Given the description of an element on the screen output the (x, y) to click on. 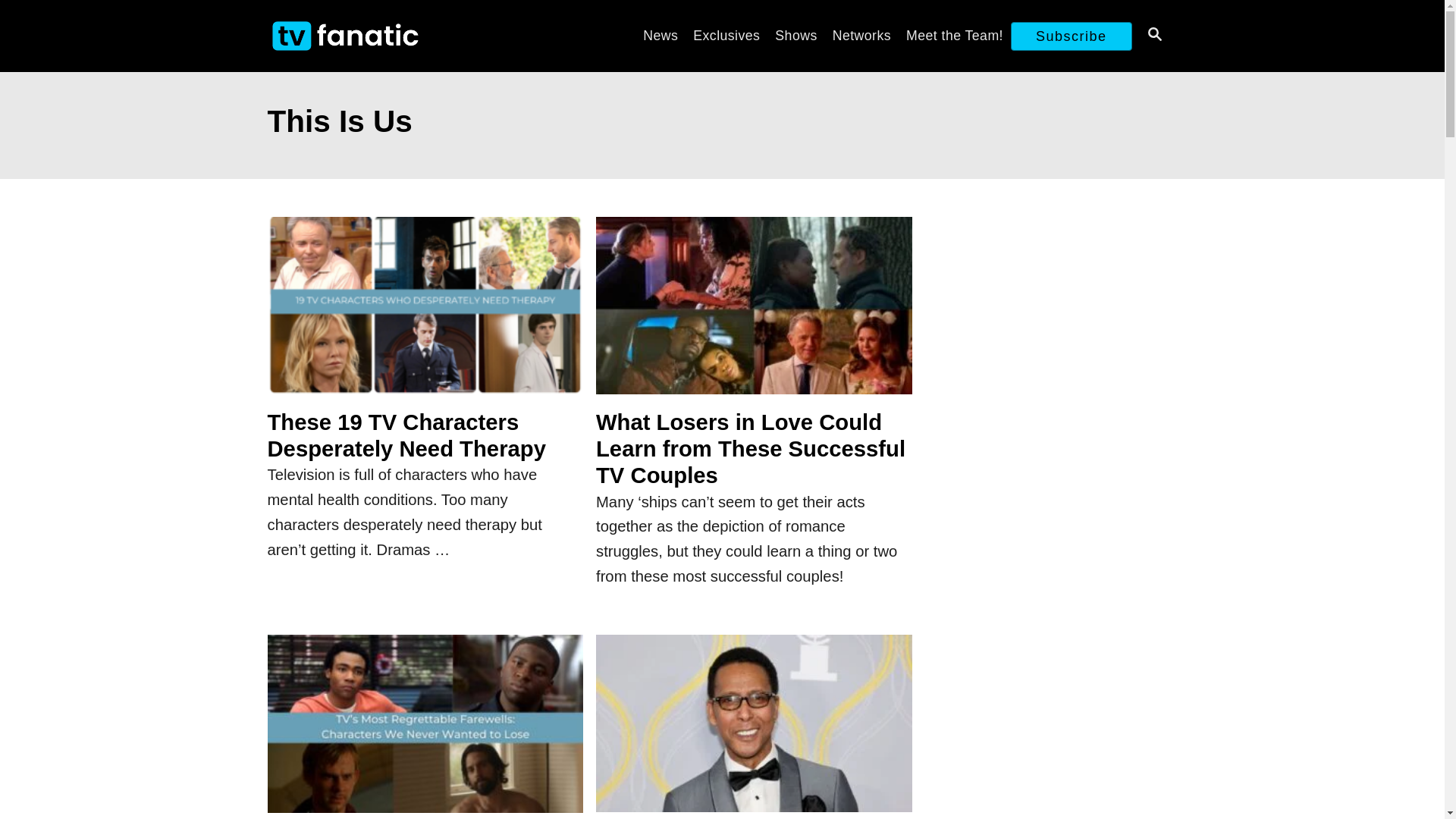
These 19 TV Characters Desperately Need Therapy (424, 313)
Networks (861, 35)
TV Fanatic (403, 36)
Shows (795, 35)
Exclusives (726, 35)
News (659, 35)
SEARCH (1153, 35)
